Given the description of an element on the screen output the (x, y) to click on. 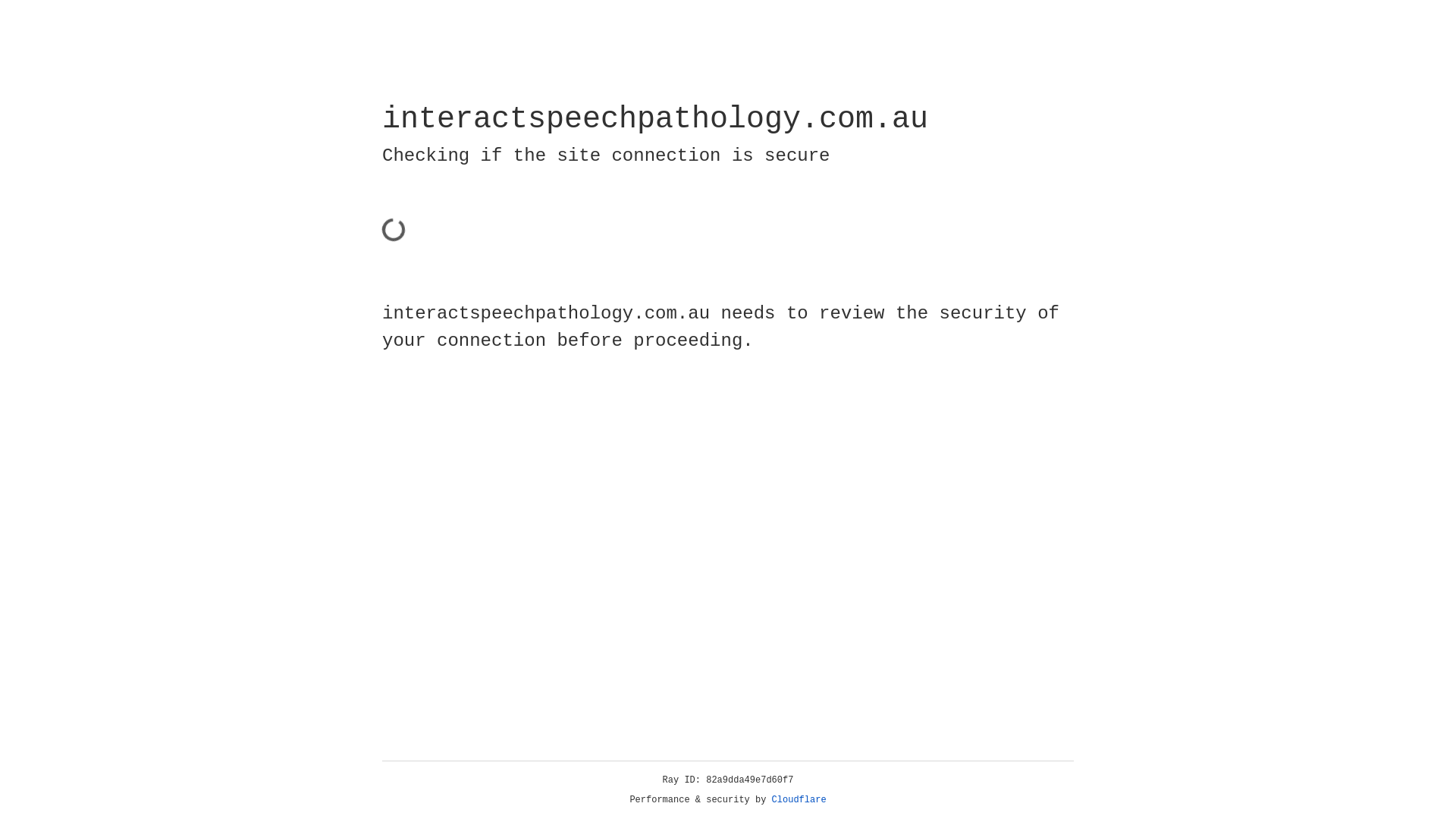
Cloudflare Element type: text (798, 799)
